Given the description of an element on the screen output the (x, y) to click on. 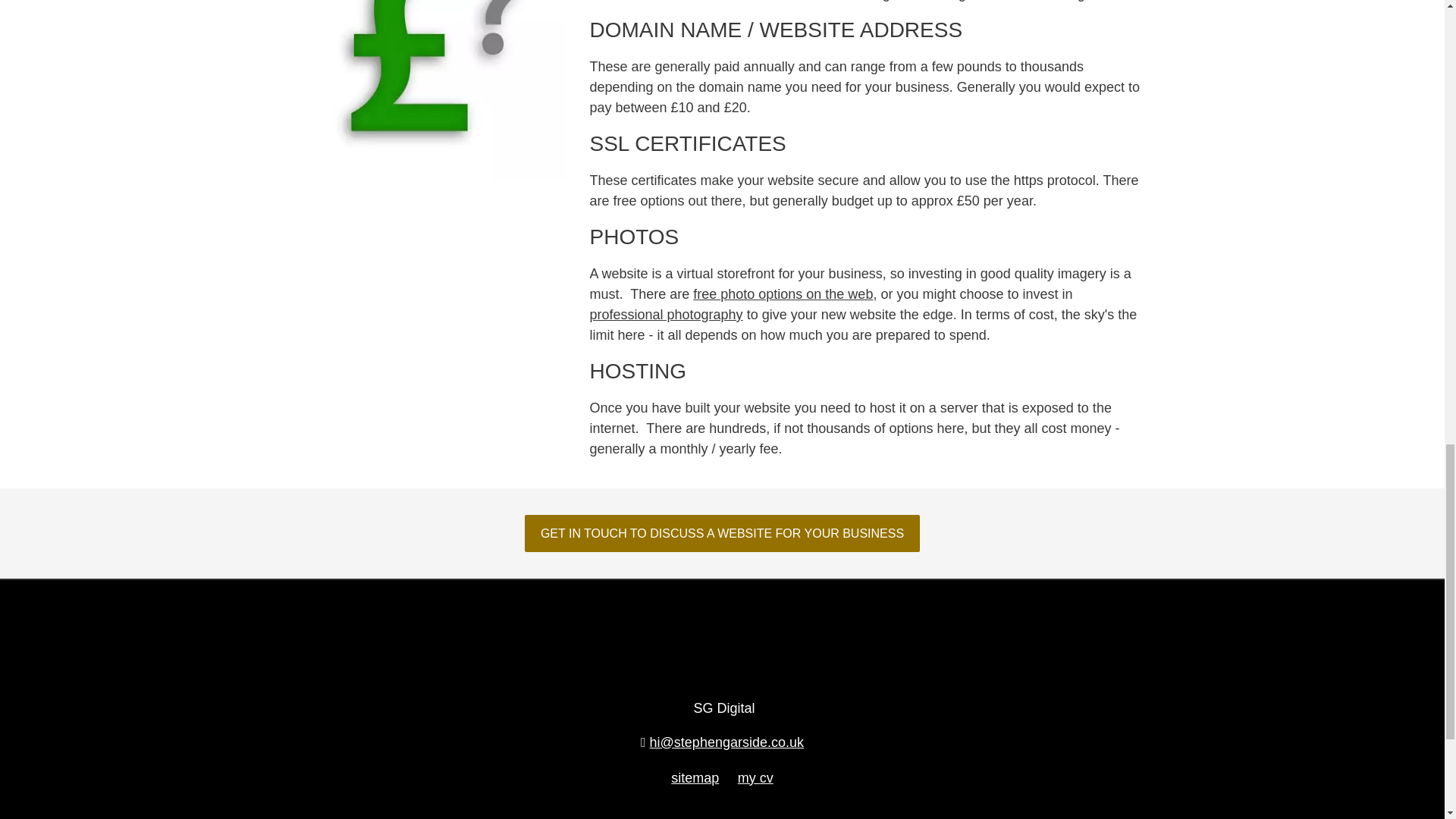
Click to email (721, 742)
Get in Touch to Discuss a Website For Your Business (722, 533)
free photo options on the web (782, 294)
professional photography (665, 314)
